Given the description of an element on the screen output the (x, y) to click on. 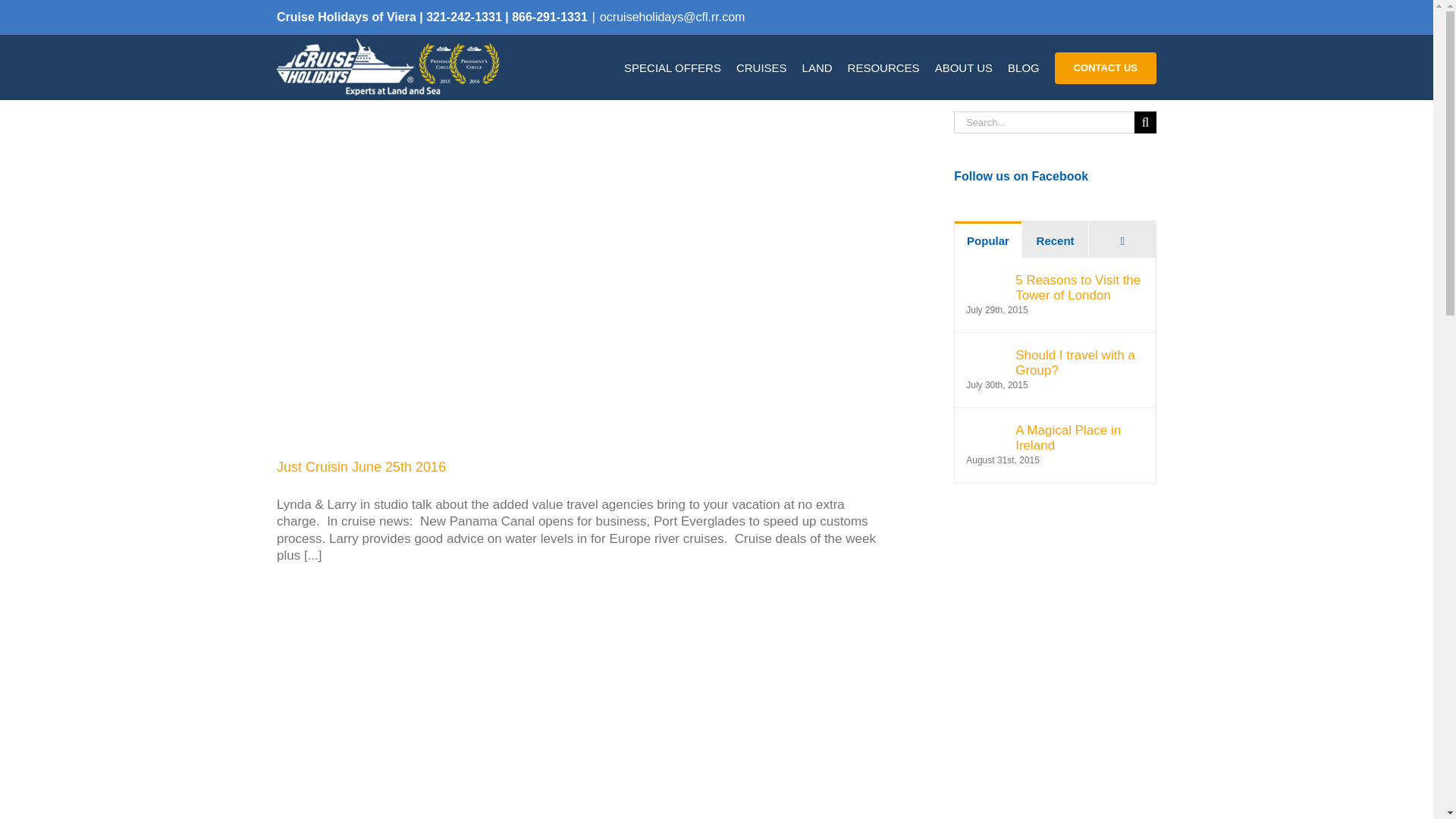
SPECIAL OFFERS (672, 66)
RESOURCES (883, 66)
ABOUT US (963, 66)
CONTACT US (1105, 66)
subscribe (1054, 537)
